Given the description of an element on the screen output the (x, y) to click on. 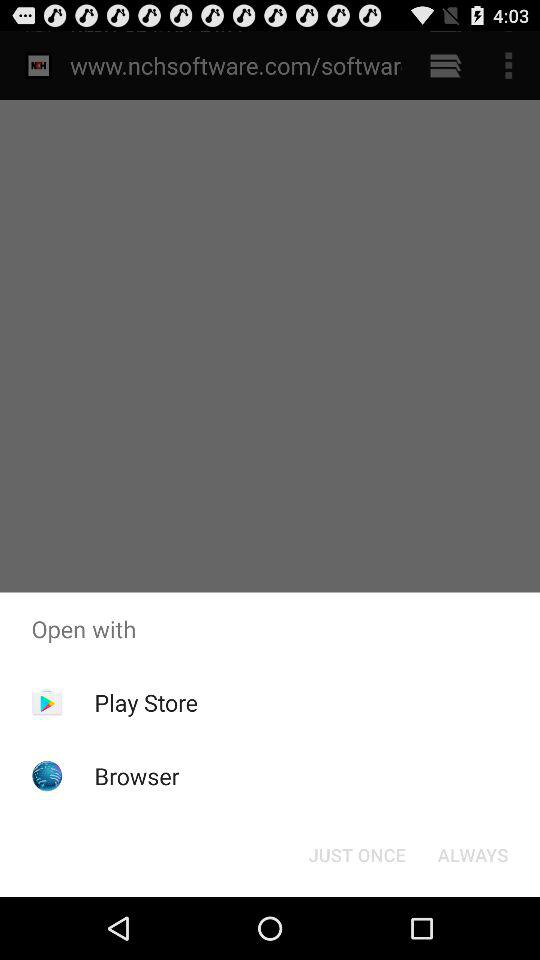
choose item to the right of just once button (472, 854)
